Given the description of an element on the screen output the (x, y) to click on. 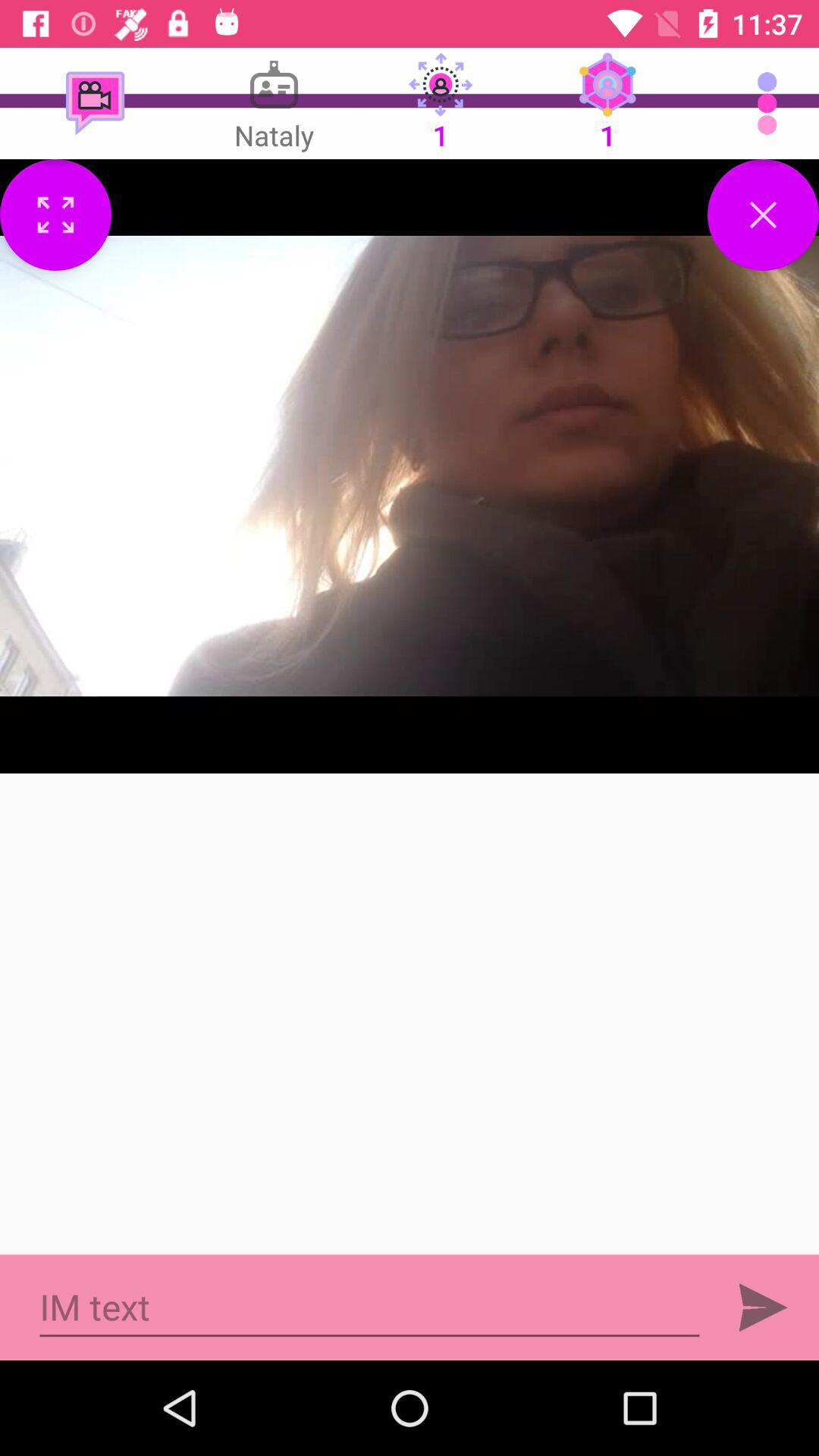
maximize picture (55, 214)
